Given the description of an element on the screen output the (x, y) to click on. 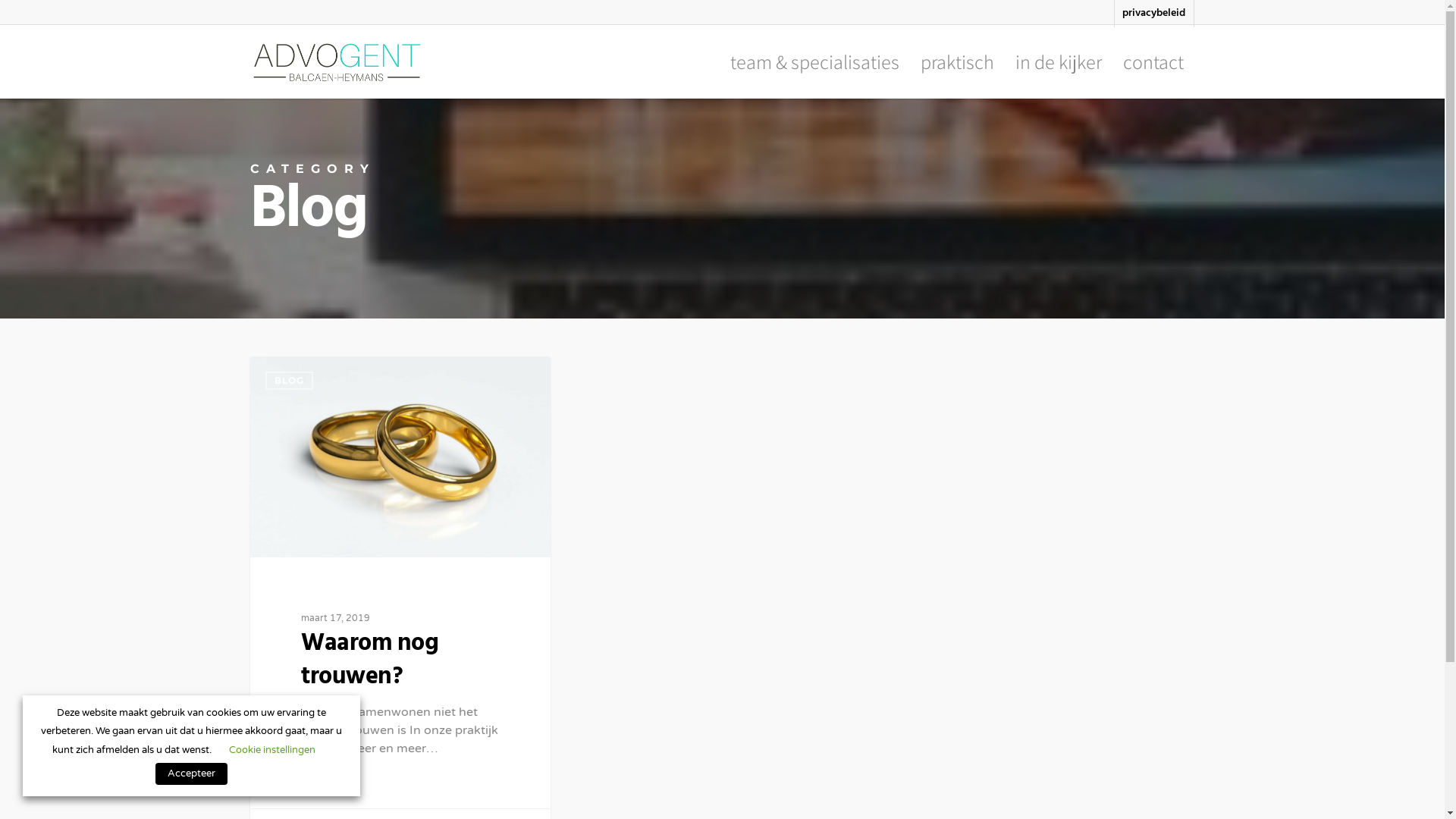
in de kijker Element type: text (1058, 64)
contact Element type: text (1153, 64)
BLOG Element type: text (289, 380)
praktisch Element type: text (957, 64)
team & specialisaties Element type: text (814, 64)
Cookie instellingen Element type: text (272, 749)
Accepteer Element type: text (191, 773)
privacybeleid Element type: text (1152, 13)
